Given the description of an element on the screen output the (x, y) to click on. 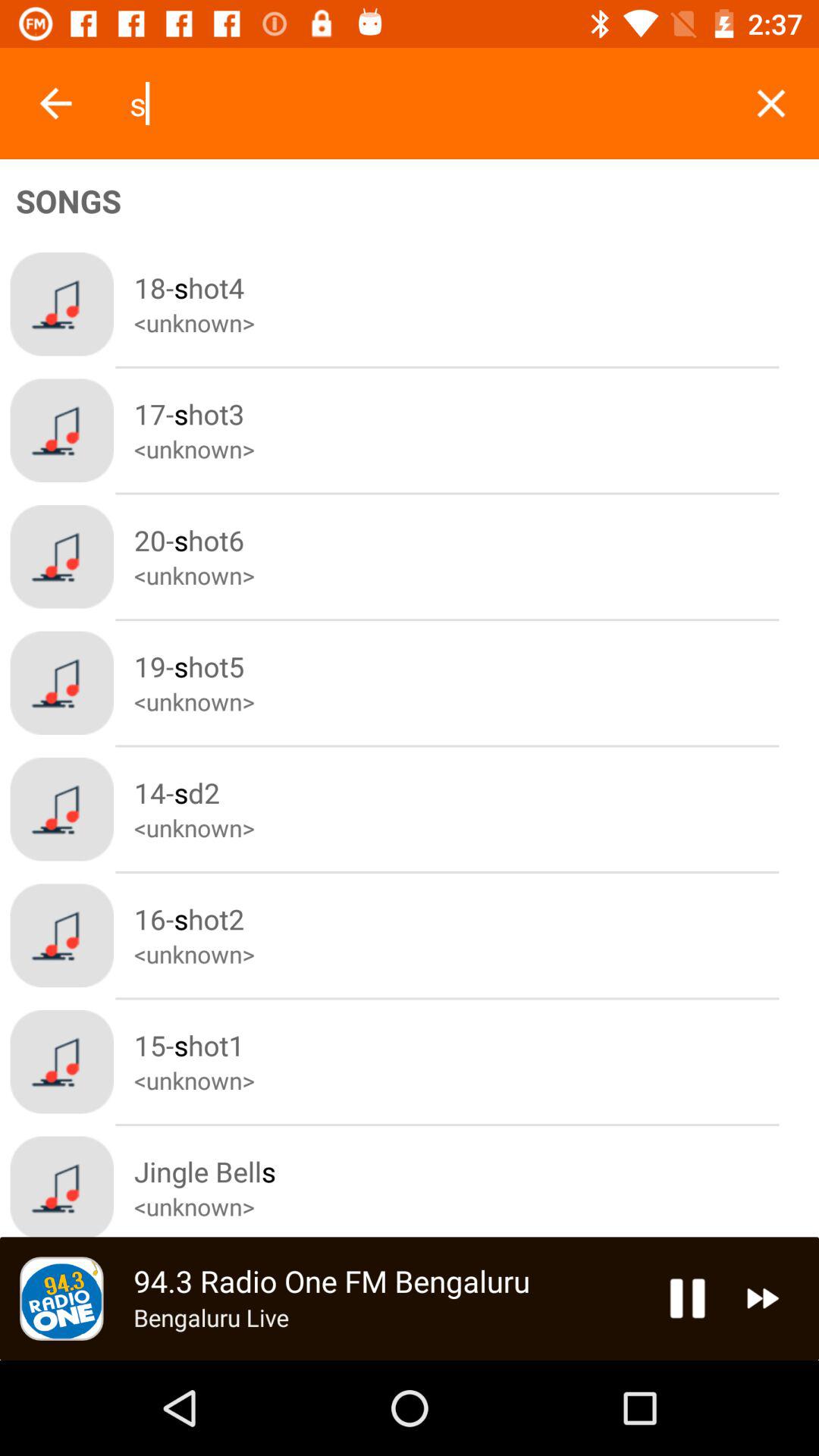
front button (55, 103)
